Given the description of an element on the screen output the (x, y) to click on. 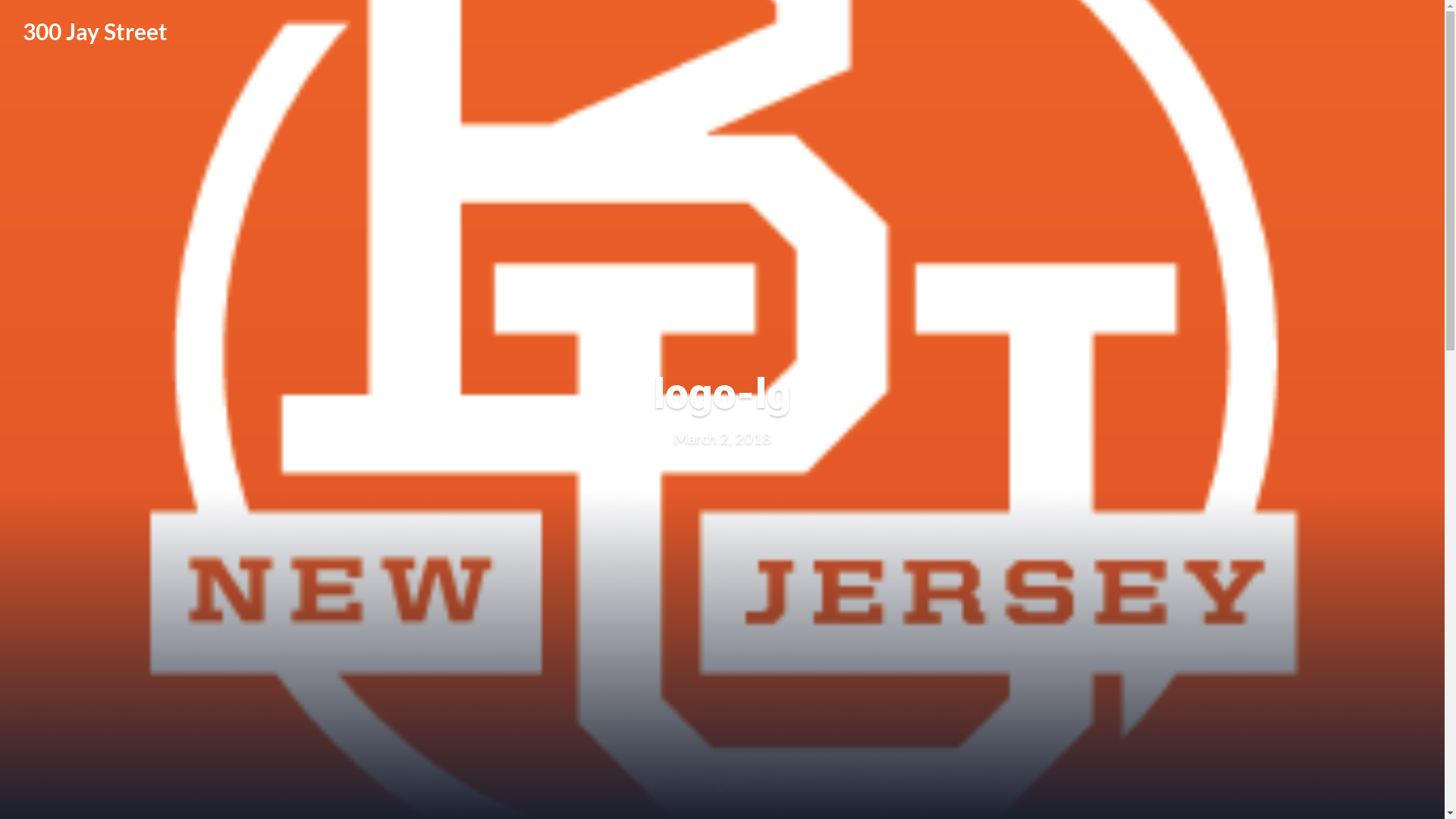
300 Jay Street Element type: text (95, 31)
